Given the description of an element on the screen output the (x, y) to click on. 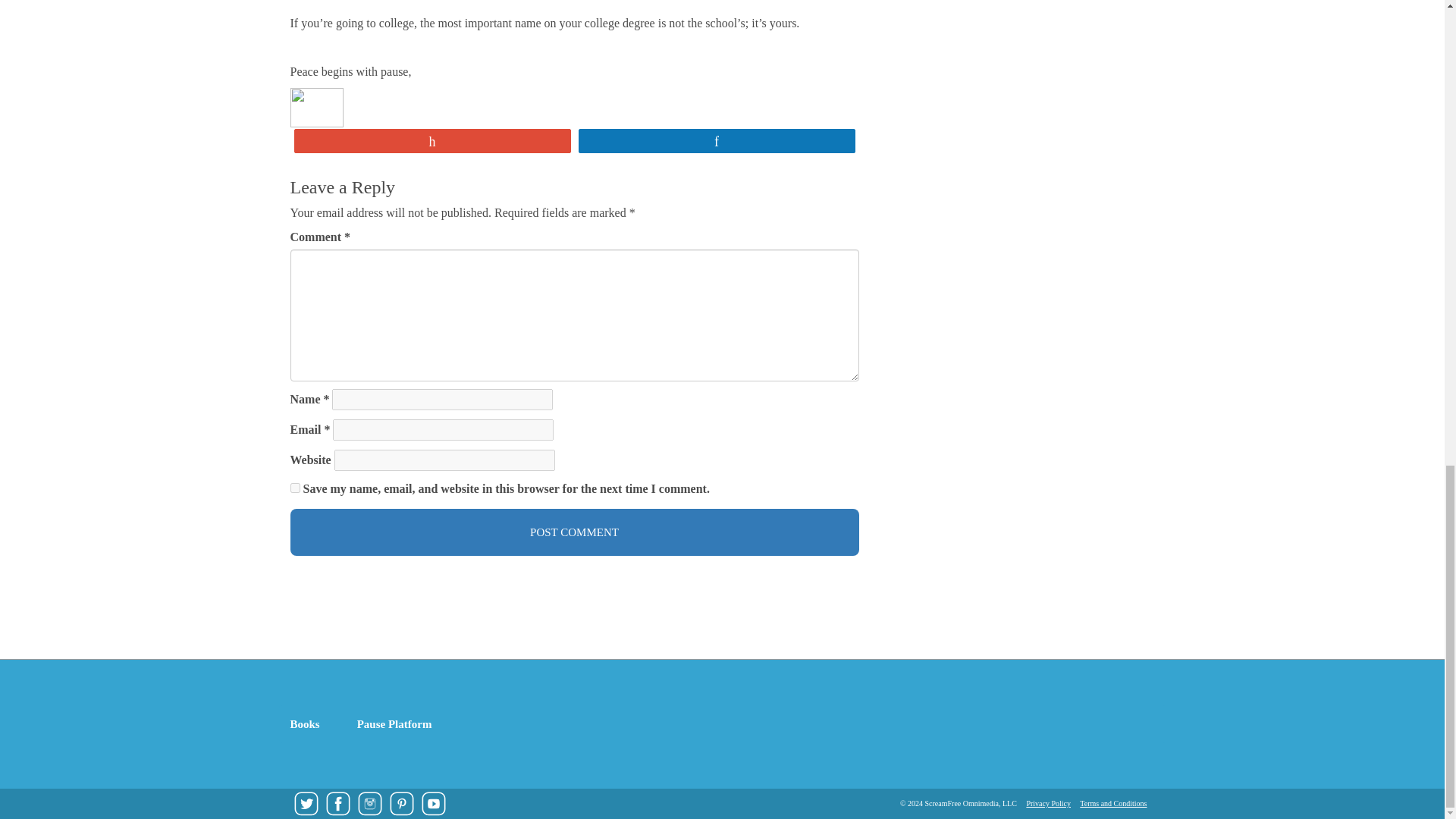
Post Comment (574, 532)
yes (294, 488)
Post Comment (574, 532)
